Given the description of an element on the screen output the (x, y) to click on. 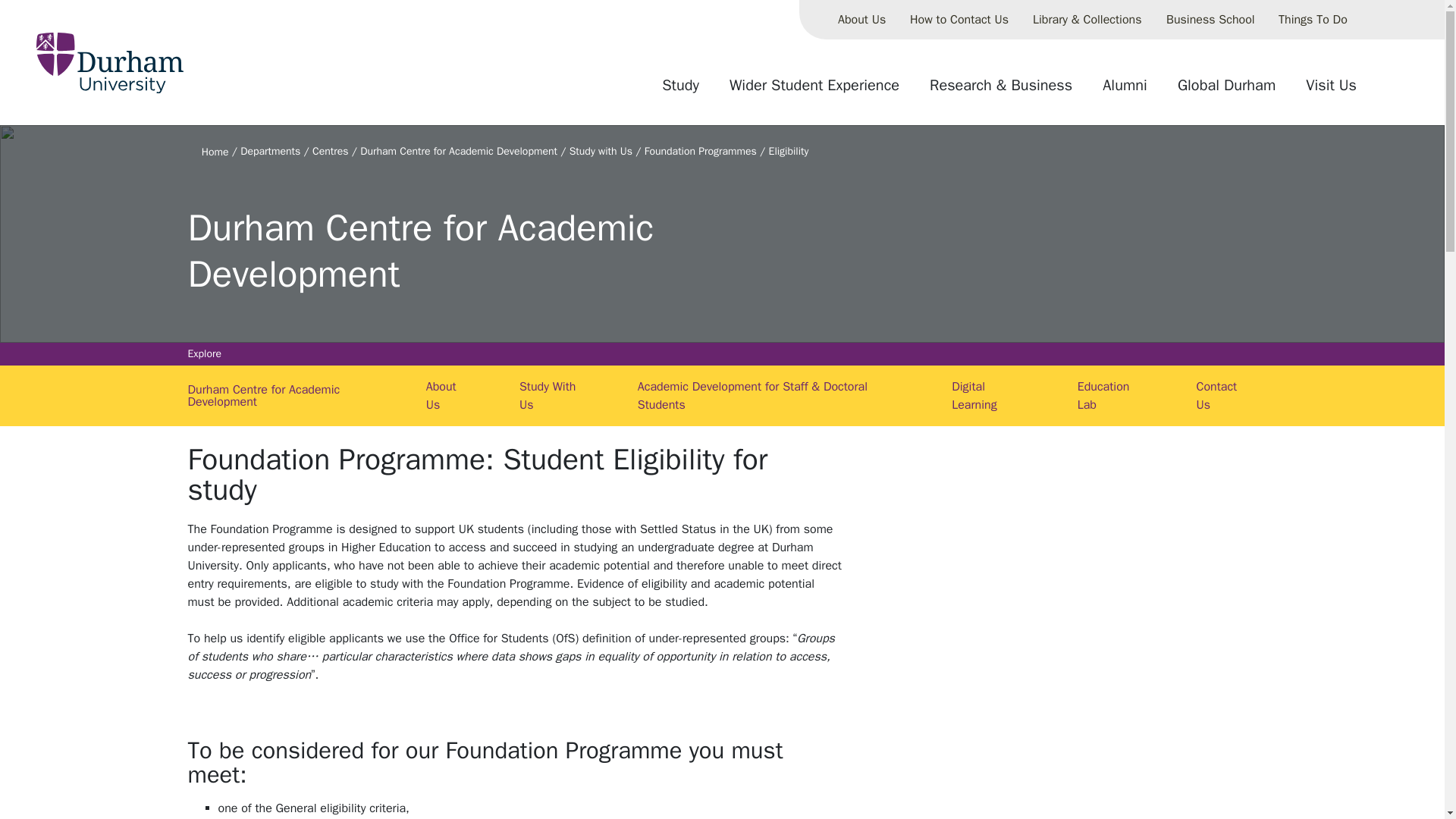
About Us (861, 19)
Study (680, 91)
How to Contact Us (959, 19)
Alumni (1124, 91)
Global Durham (1226, 91)
Things To Do (1312, 19)
Business School (1210, 19)
Visit Us (1331, 91)
Wider Student Experience (814, 91)
